Given the description of an element on the screen output the (x, y) to click on. 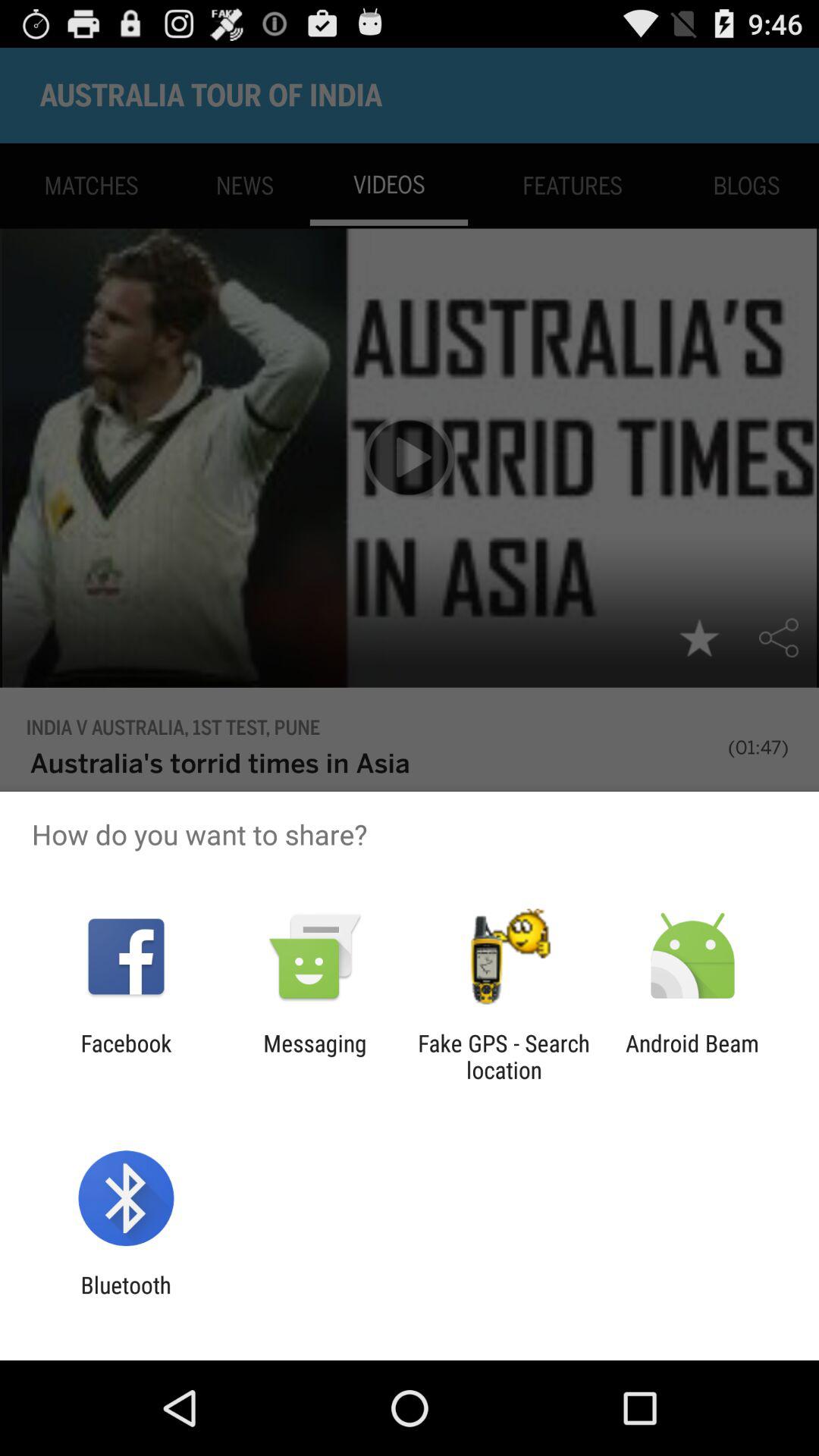
turn off fake gps search item (503, 1056)
